Given the description of an element on the screen output the (x, y) to click on. 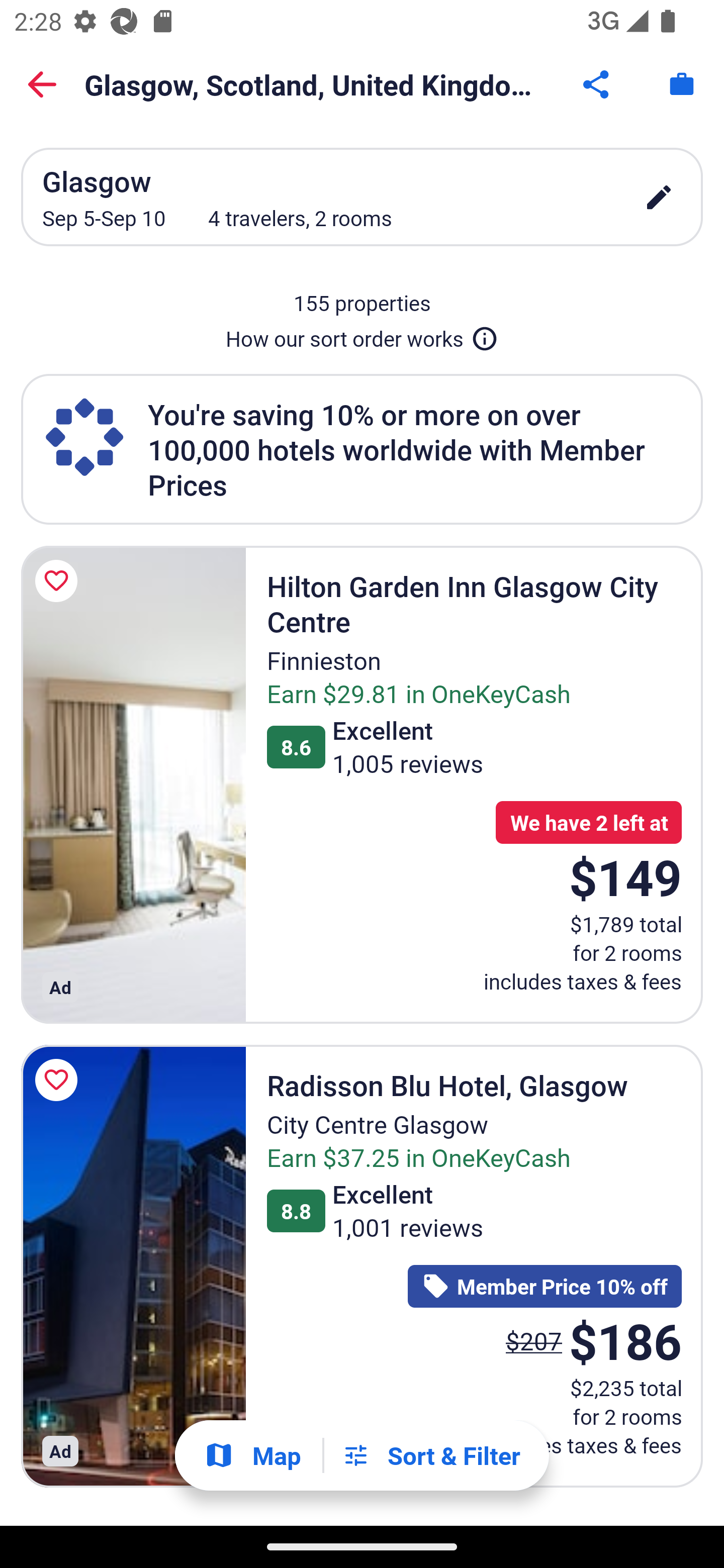
Back (42, 84)
Share Button (597, 84)
Trips. Button (681, 84)
Glasgow Sep 5-Sep 10 4 travelers, 2 rooms edit (361, 196)
How our sort order works (361, 334)
Hilton Garden Inn Glasgow City Centre (133, 784)
Save Radisson Blu Hotel, Glasgow to a trip (59, 1080)
Radisson Blu Hotel, Glasgow (133, 1266)
$207 The price was $207 (533, 1340)
Filters Sort & Filter Filters Button (430, 1455)
Show map Map Show map Button (252, 1455)
